Given the description of an element on the screen output the (x, y) to click on. 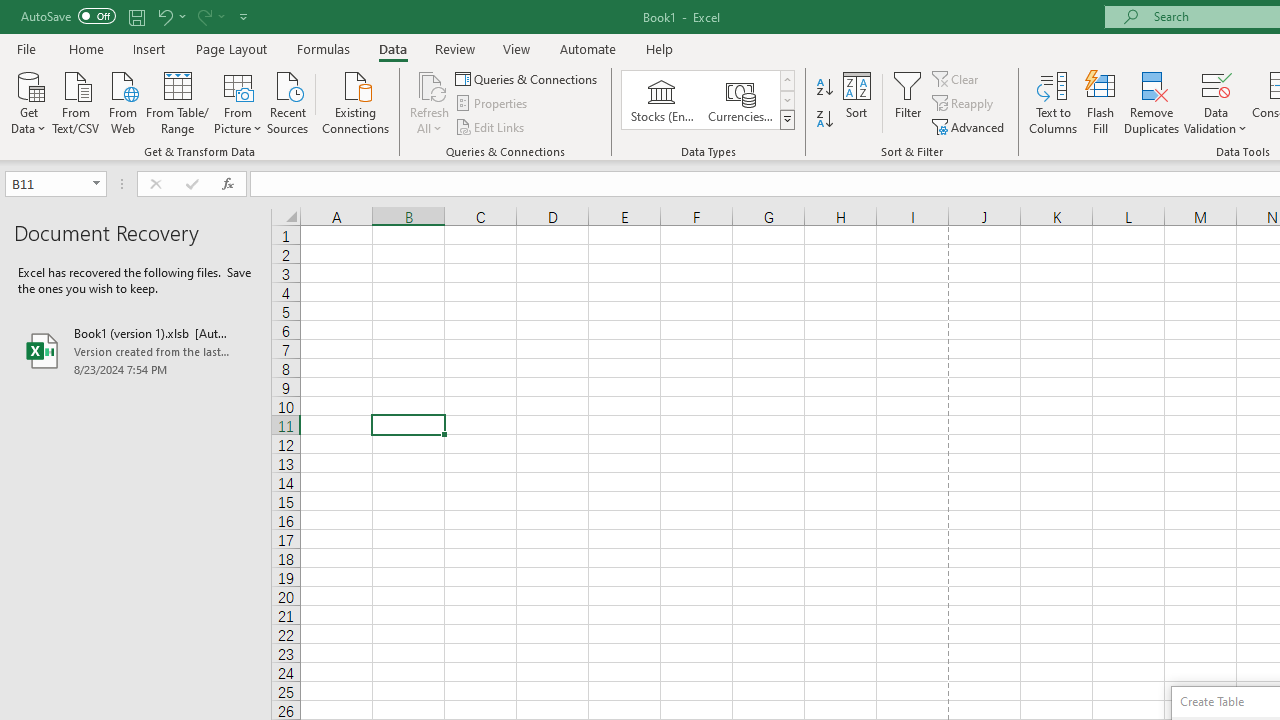
Quick Access Toolbar (136, 16)
Name Box (56, 183)
Refresh All (429, 102)
AutomationID: ConvertToLinkedEntity (708, 99)
Queries & Connections (527, 78)
Review (454, 48)
Undo (164, 15)
Data (392, 48)
More Options (1215, 121)
Flash Fill (1101, 102)
Save (136, 15)
Sort A to Z (824, 87)
